Given the description of an element on the screen output the (x, y) to click on. 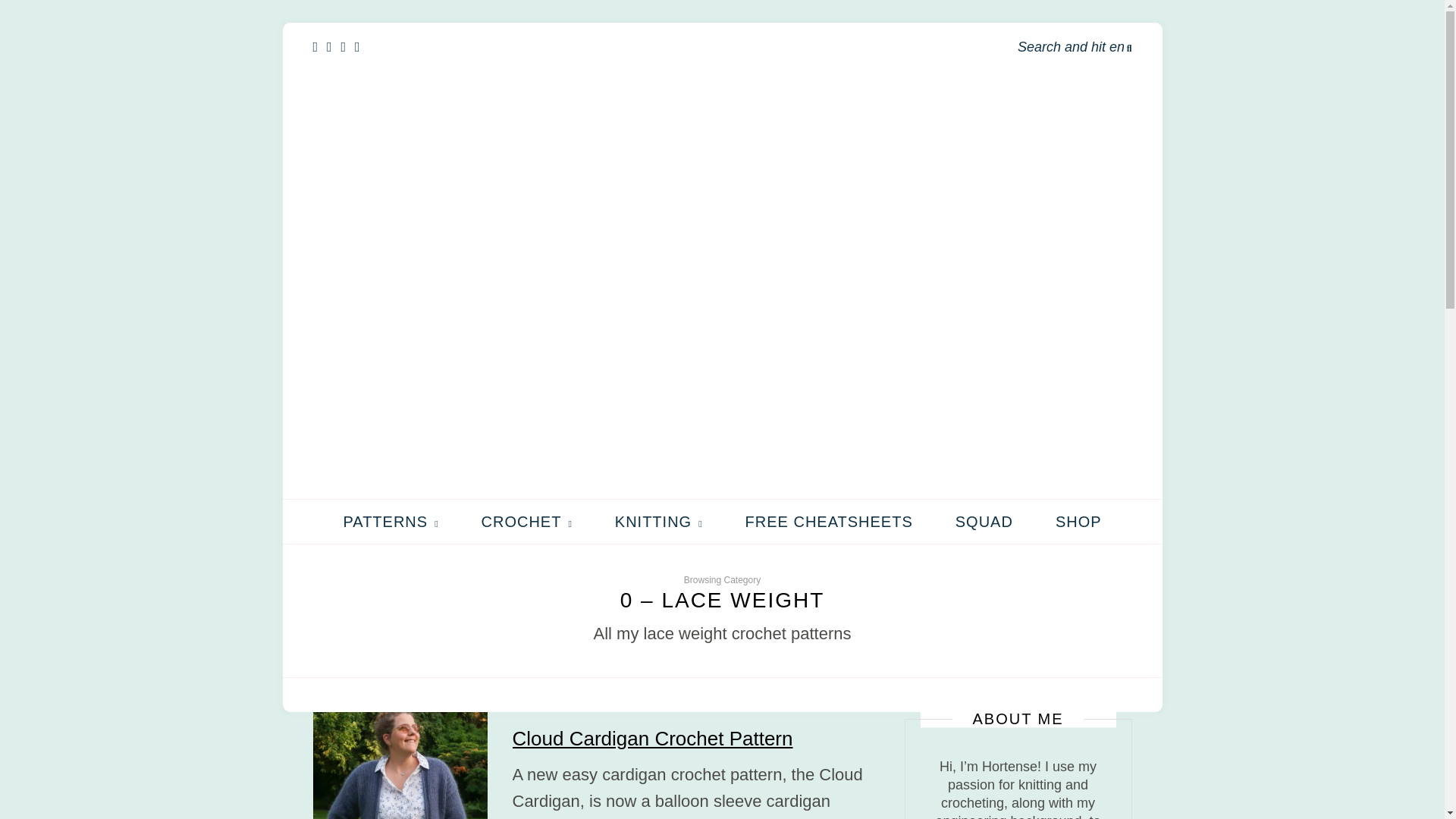
CROCHET (526, 522)
KNITTING (658, 522)
PATTERNS (390, 522)
